Given the description of an element on the screen output the (x, y) to click on. 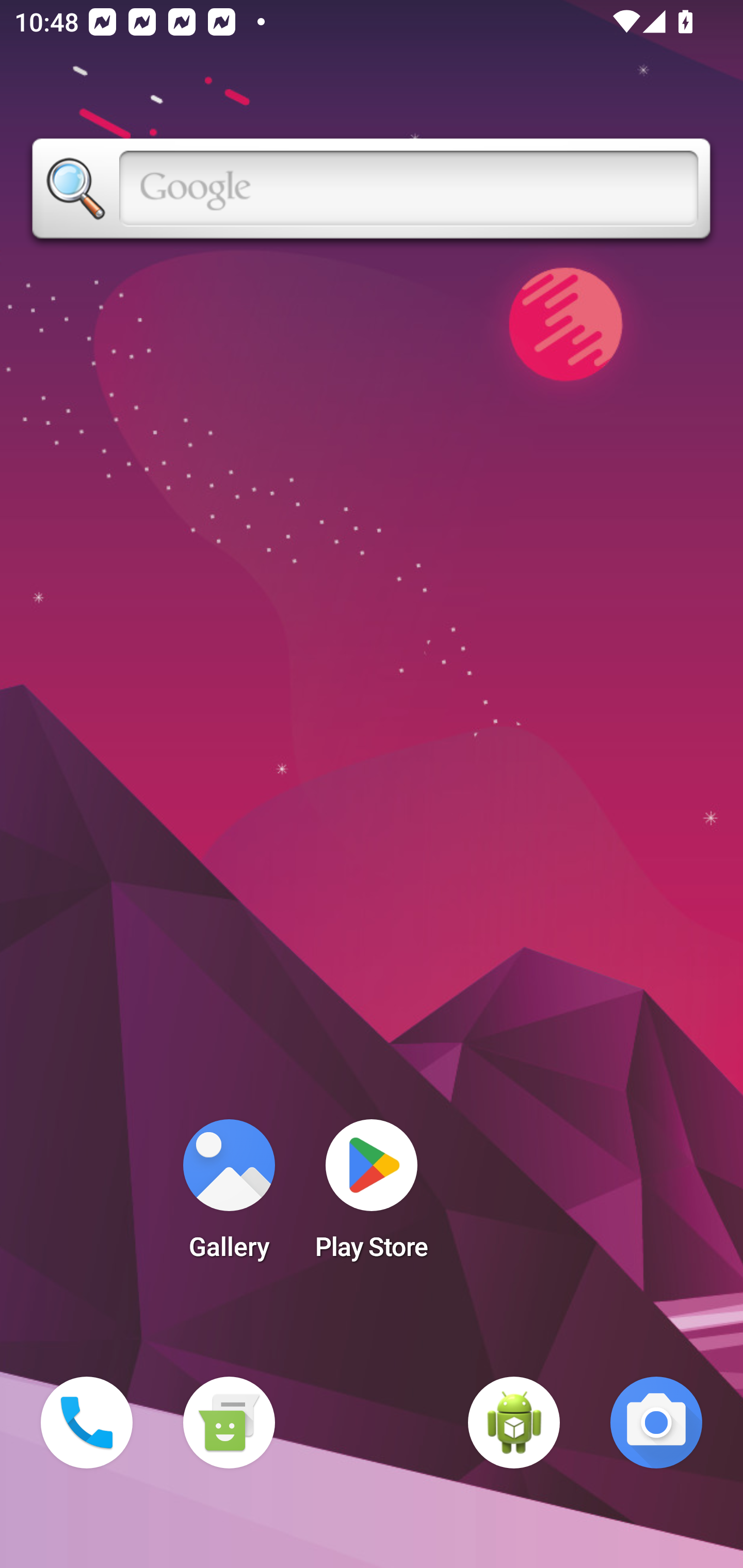
Gallery (228, 1195)
Play Store (371, 1195)
Phone (86, 1422)
Messaging (228, 1422)
WebView Browser Tester (513, 1422)
Camera (656, 1422)
